Given the description of an element on the screen output the (x, y) to click on. 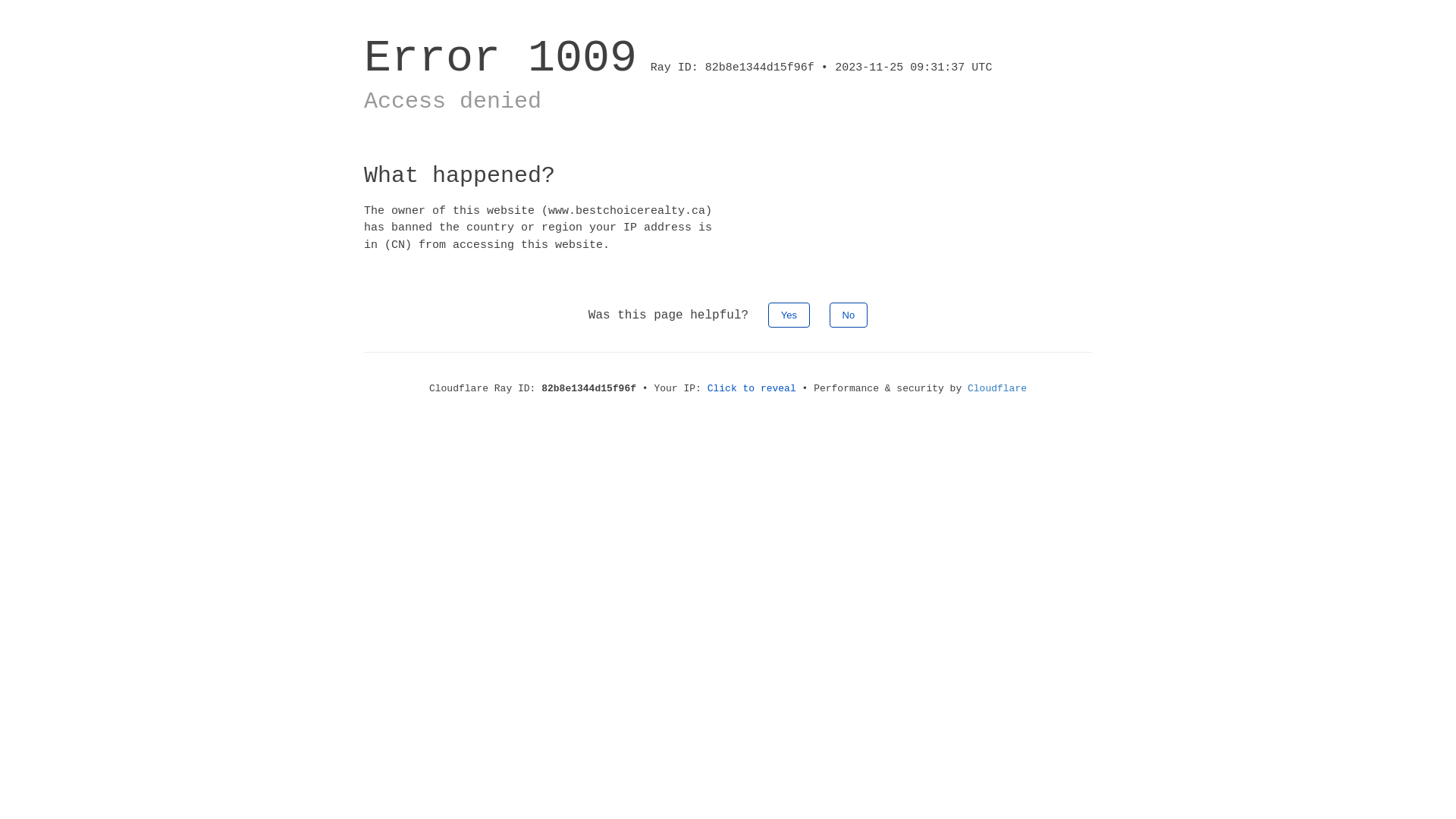
No Element type: text (848, 314)
Click to reveal Element type: text (751, 388)
Yes Element type: text (788, 314)
Cloudflare Element type: text (996, 388)
